Given the description of an element on the screen output the (x, y) to click on. 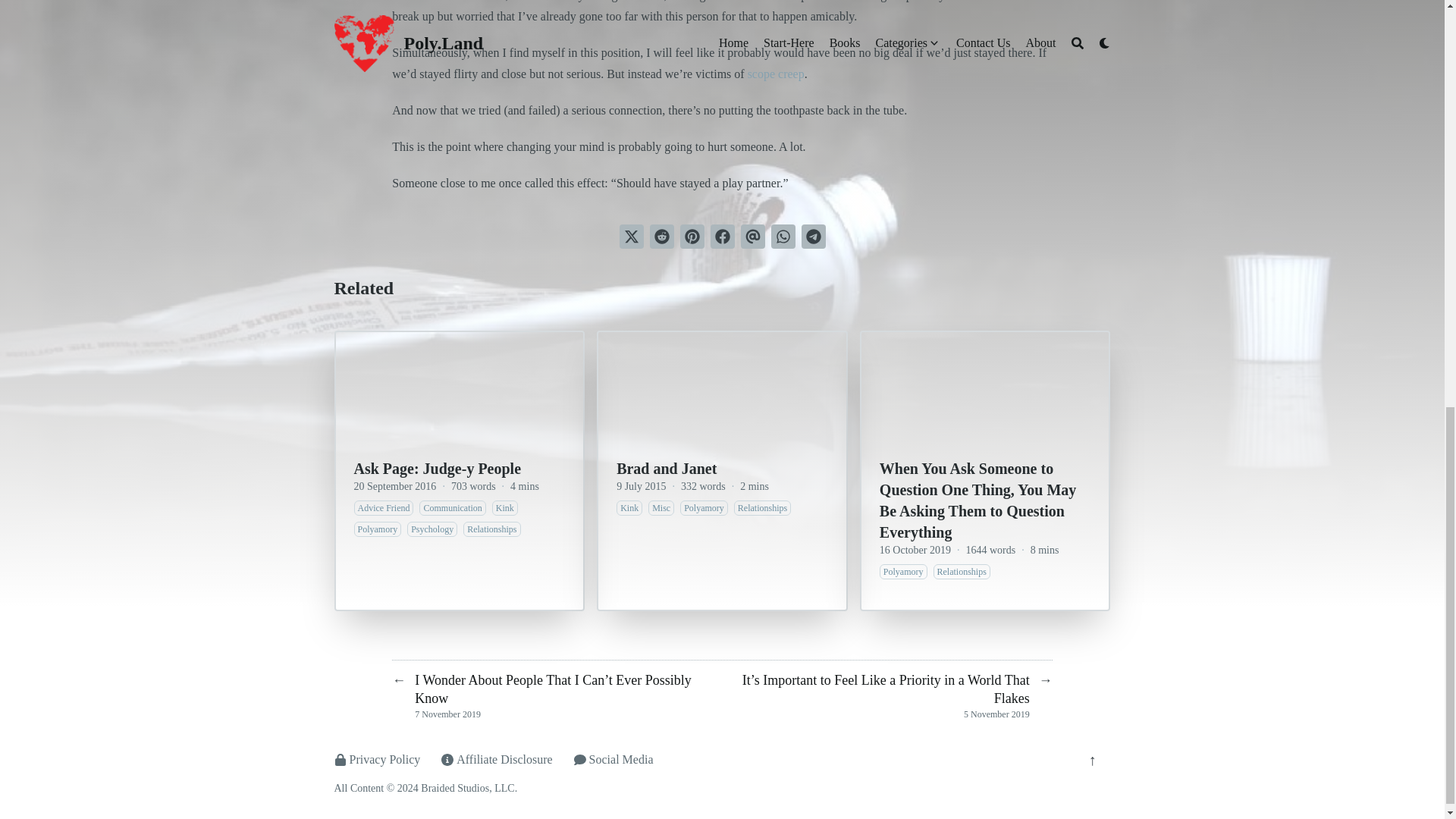
scope creep (776, 73)
